Given the description of an element on the screen output the (x, y) to click on. 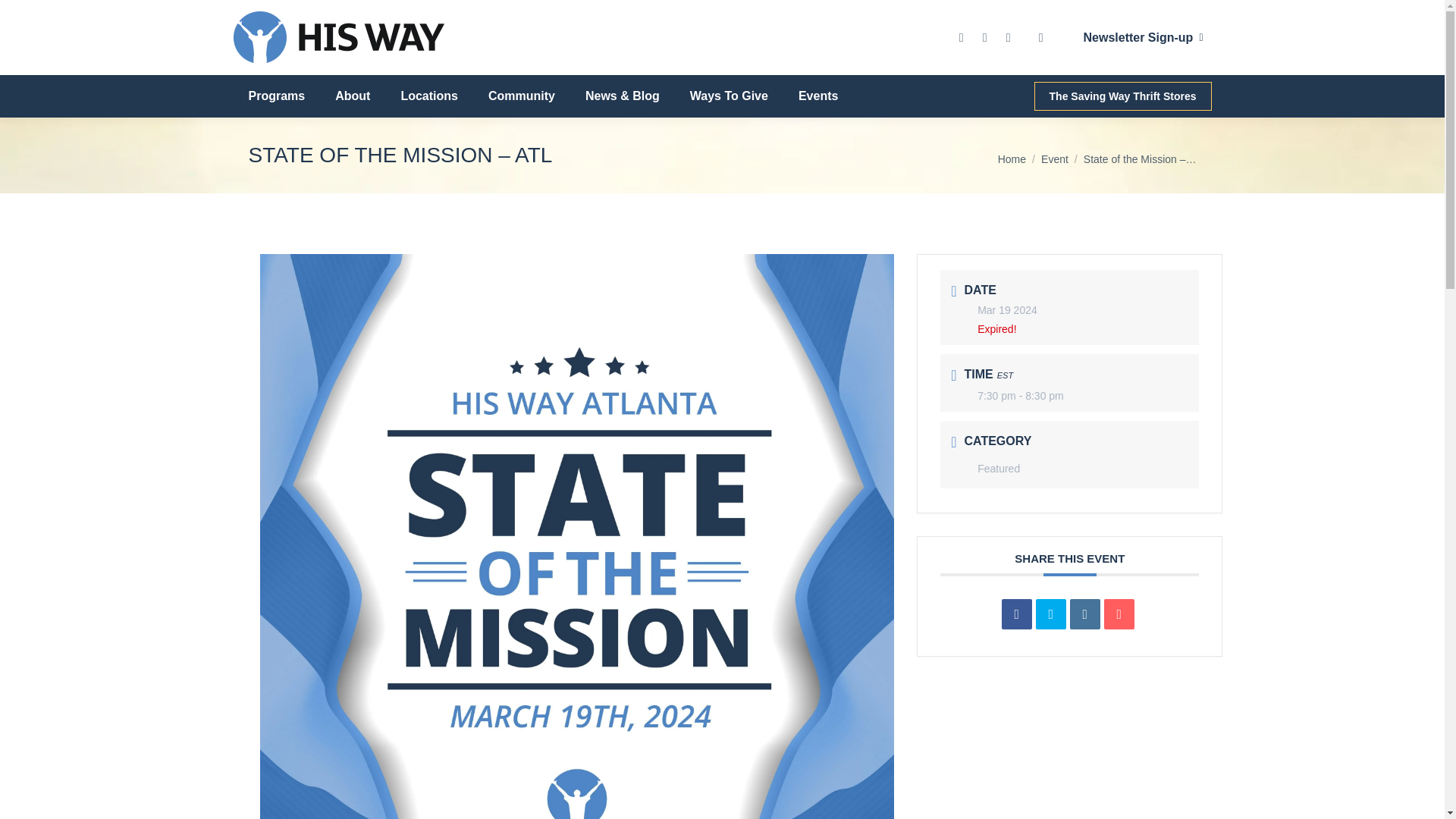
Linkedin (1085, 613)
X page opens in new window (984, 36)
Facebook page opens in new window (961, 36)
Email (1118, 613)
Locations (429, 96)
Newsletter Sign-up (1139, 37)
YouTube page opens in new window (1007, 36)
X page opens in new window (984, 36)
YouTube page opens in new window (1007, 36)
Tweet (1050, 613)
Facebook page opens in new window (961, 36)
Event (1054, 159)
Programs (276, 96)
Share on Facebook (1016, 613)
Community (521, 96)
